Given the description of an element on the screen output the (x, y) to click on. 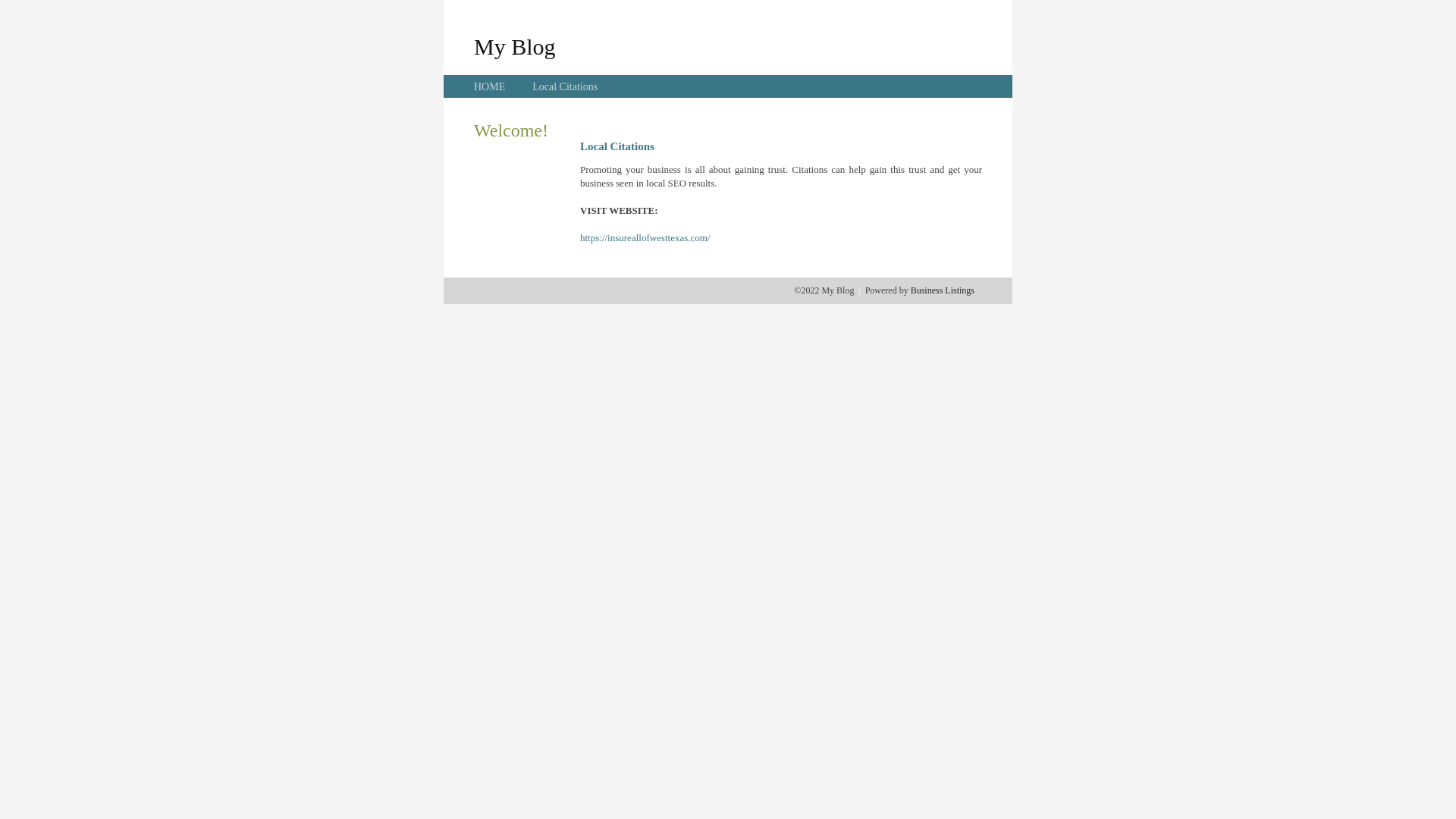
https://insureallofwesttexas.com/ Element type: text (645, 237)
Business Listings Element type: text (942, 290)
Local Citations Element type: text (564, 86)
My Blog Element type: text (514, 46)
HOME Element type: text (489, 86)
